Given the description of an element on the screen output the (x, y) to click on. 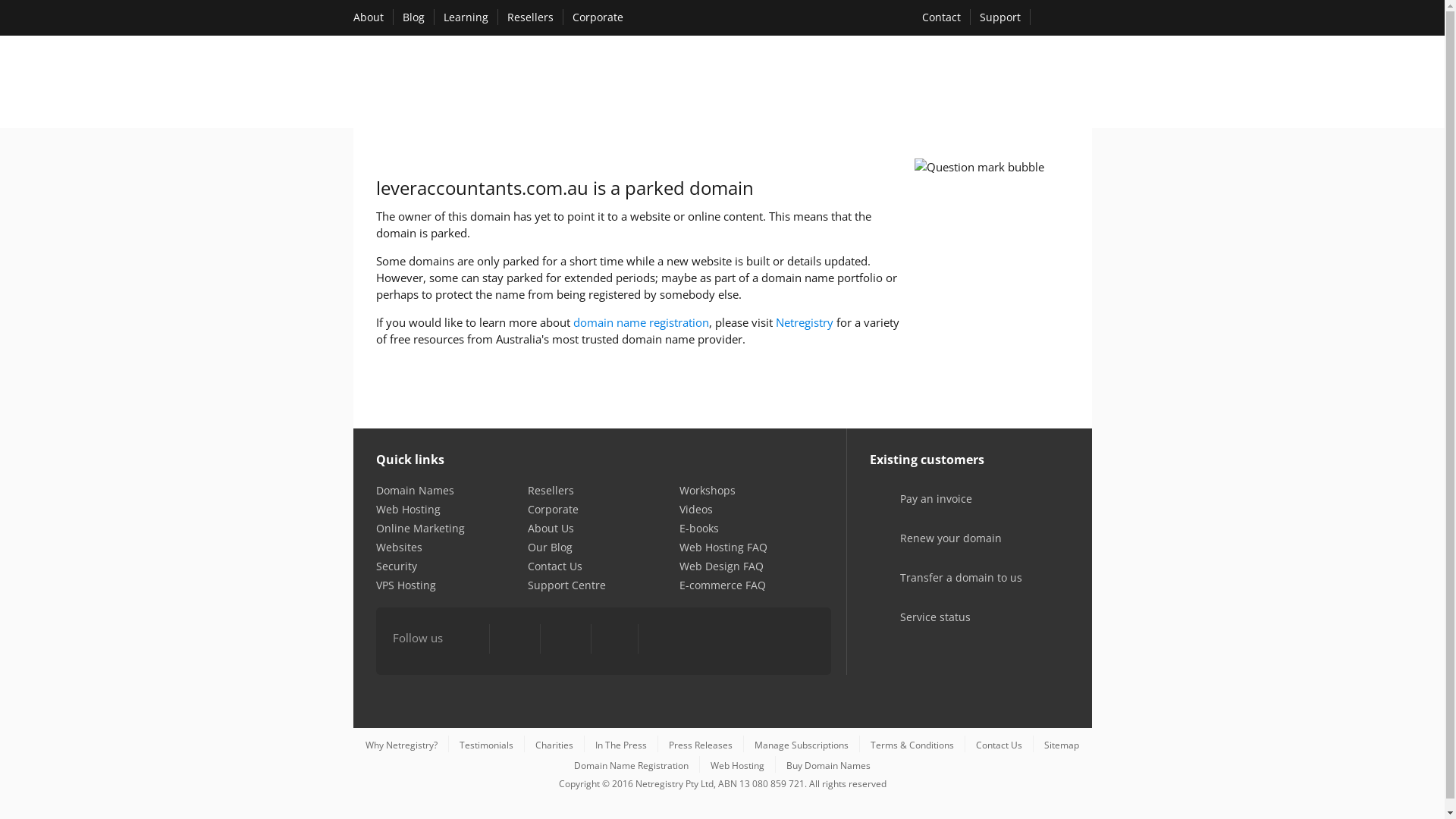
domain name registration Element type: text (641, 321)
E-commerce FAQ Element type: text (722, 584)
Corporate Element type: text (596, 16)
Transfer a domain to us Element type: text (941, 587)
Terms & Conditions Element type: text (911, 744)
Testimonials Element type: text (486, 744)
Support Element type: text (999, 16)
VPS Hosting Element type: text (406, 584)
Charities Element type: text (554, 744)
Contact Element type: text (941, 16)
Contact Us Element type: text (998, 744)
Renew your domain Element type: text (931, 548)
Web Hosting Element type: text (737, 765)
In The Press Element type: text (620, 744)
Manage Subscriptions Element type: text (801, 744)
Pinterest Element type: text (614, 639)
Twitter Element type: text (514, 639)
Videos Element type: text (695, 509)
Corporate Element type: text (552, 509)
Get your website Element type: text (904, 85)
About Us Element type: text (550, 527)
Resellers Element type: text (529, 16)
Grow your business Element type: text (1016, 85)
Press Releases Element type: text (700, 744)
Blog RSS Element type: text (662, 639)
YouTube Element type: text (564, 639)
E-books Element type: text (698, 527)
Learning Element type: text (464, 16)
Workshops Element type: text (707, 490)
Websites Element type: text (399, 546)
Our Blog Element type: text (549, 546)
Security Element type: text (396, 565)
Login Element type: text (1064, 18)
Web Design FAQ Element type: text (721, 565)
Support Centre Element type: text (566, 584)
Web Hosting Element type: text (408, 509)
Netregistry Element type: text (803, 321)
Why Netregistry? Element type: text (401, 744)
About Element type: text (368, 16)
Buy Domain Names Element type: text (828, 765)
Resellers Element type: text (550, 490)
Domain Names Element type: text (415, 490)
Get your domain Element type: text (798, 85)
Service status Element type: text (915, 627)
Facebook Element type: text (467, 639)
Sitemap Element type: text (1061, 744)
Domain Name Registration Element type: text (631, 765)
Contact Us Element type: text (554, 565)
Blog Element type: text (412, 16)
Online Marketing Element type: text (420, 527)
Pay an invoice Element type: text (916, 509)
Web Hosting FAQ Element type: text (723, 546)
